Given the description of an element on the screen output the (x, y) to click on. 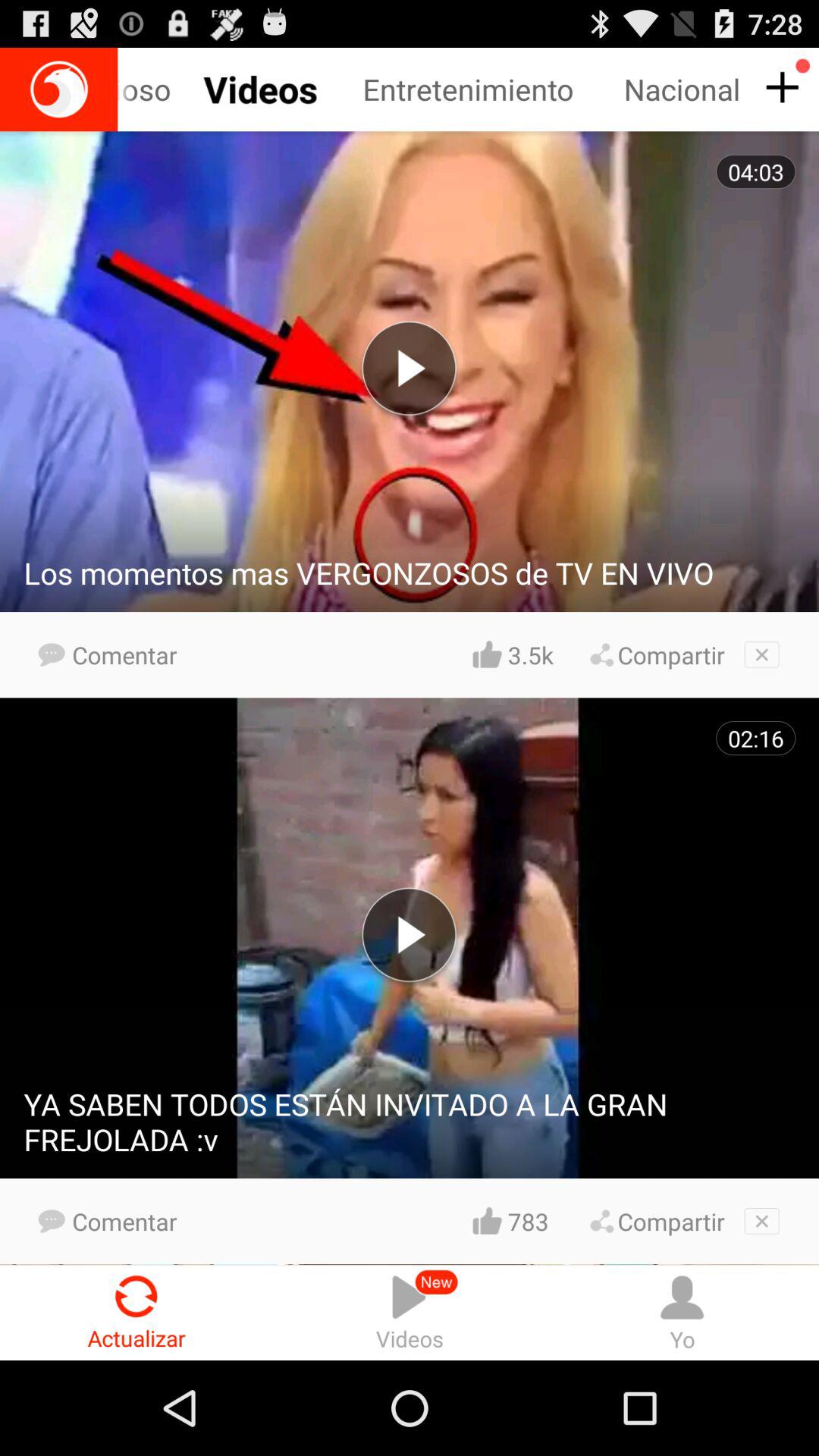
choose the yo radio button (682, 1312)
